Given the description of an element on the screen output the (x, y) to click on. 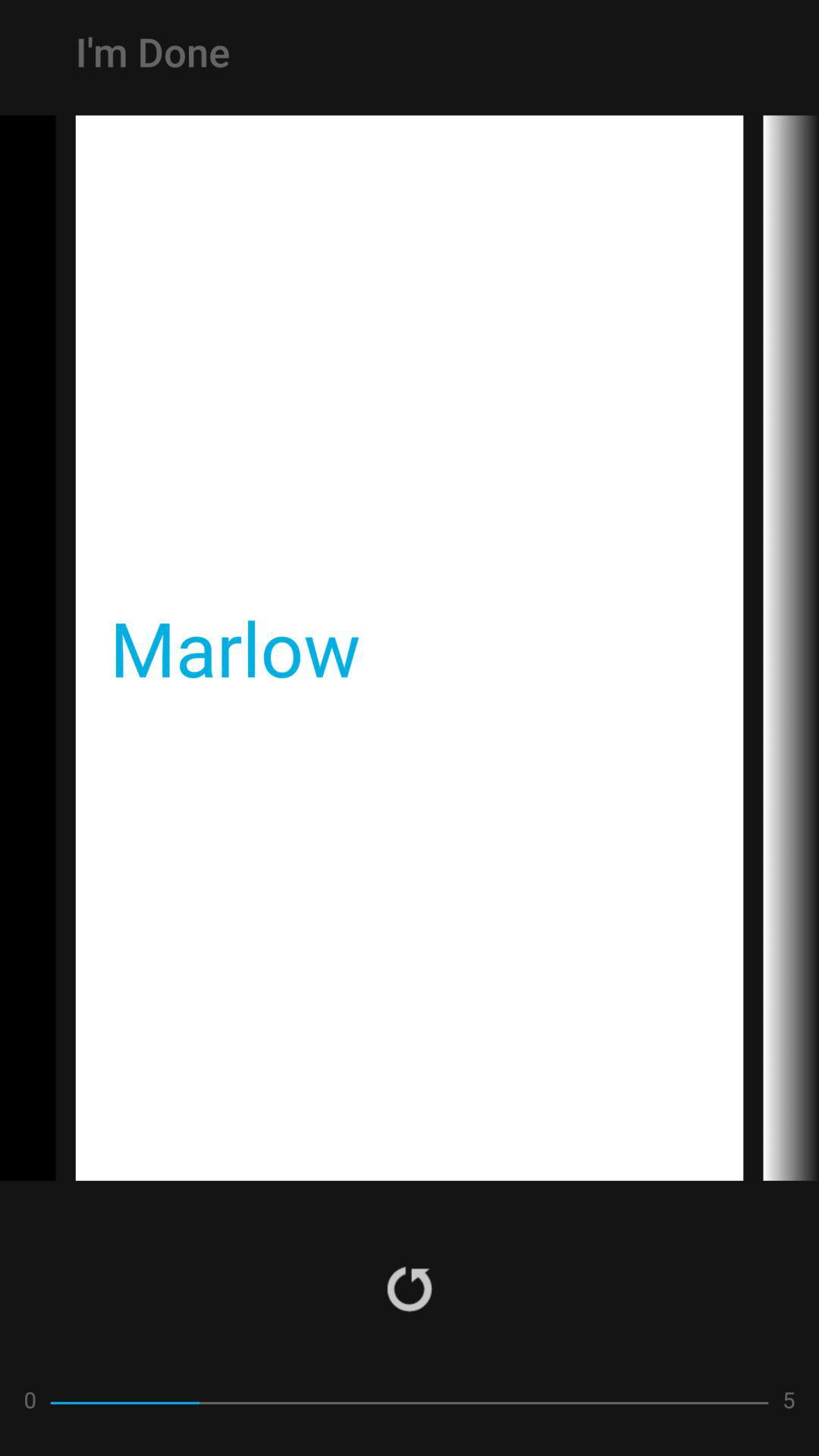
go to refresh (409, 1288)
